Given the description of an element on the screen output the (x, y) to click on. 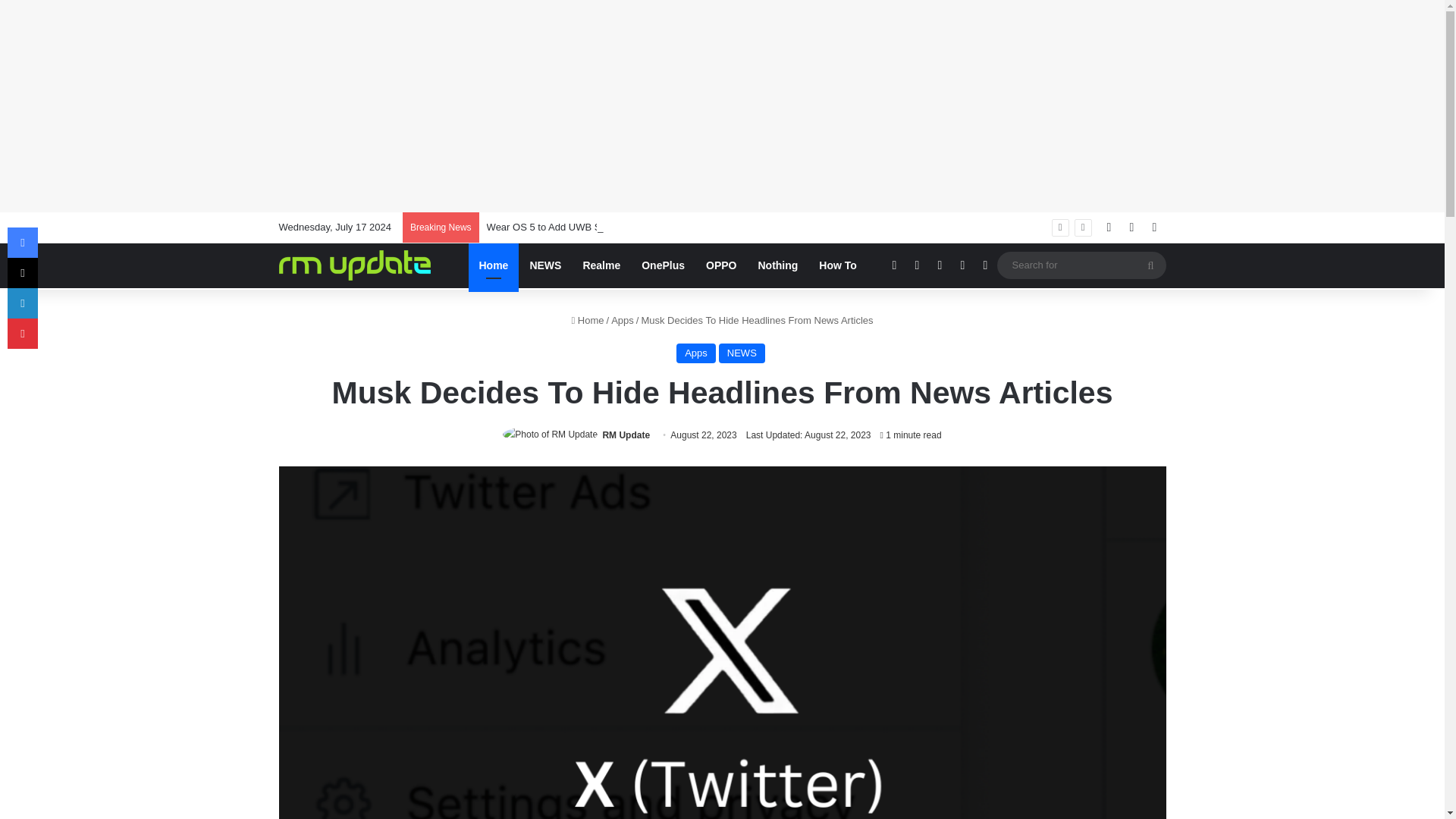
YouTube (939, 265)
Log In (1109, 227)
Sidebar (1154, 227)
NEWS (545, 265)
X (916, 265)
Random Article (1131, 227)
Instagram (962, 265)
How To (837, 265)
OnePlus (662, 265)
Realme (601, 265)
Home (493, 265)
RM Update (625, 434)
RM Update News (354, 265)
NEWS (742, 353)
